Given the description of an element on the screen output the (x, y) to click on. 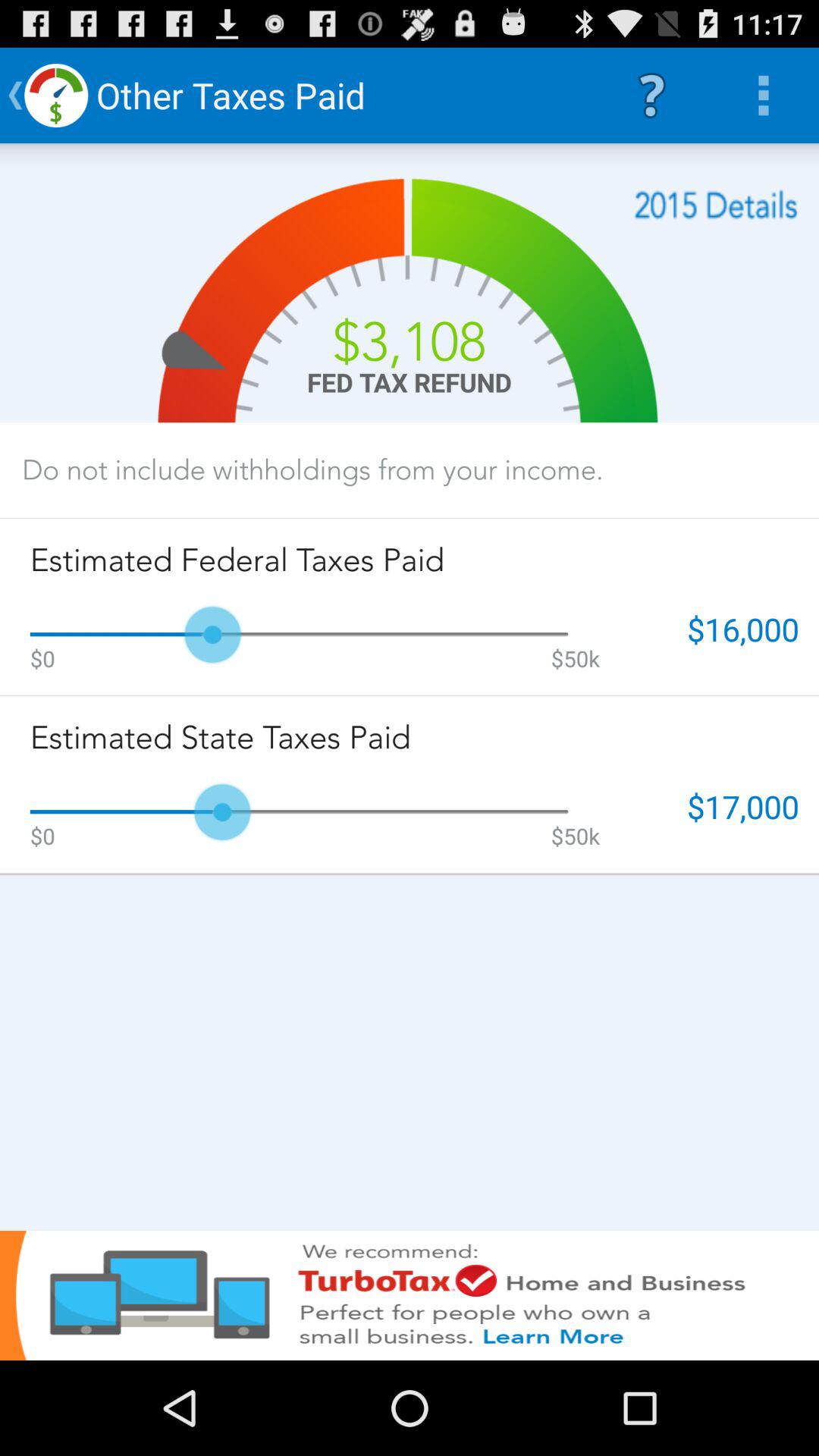
tap the icon above the $16,000 icon (715, 204)
